Given the description of an element on the screen output the (x, y) to click on. 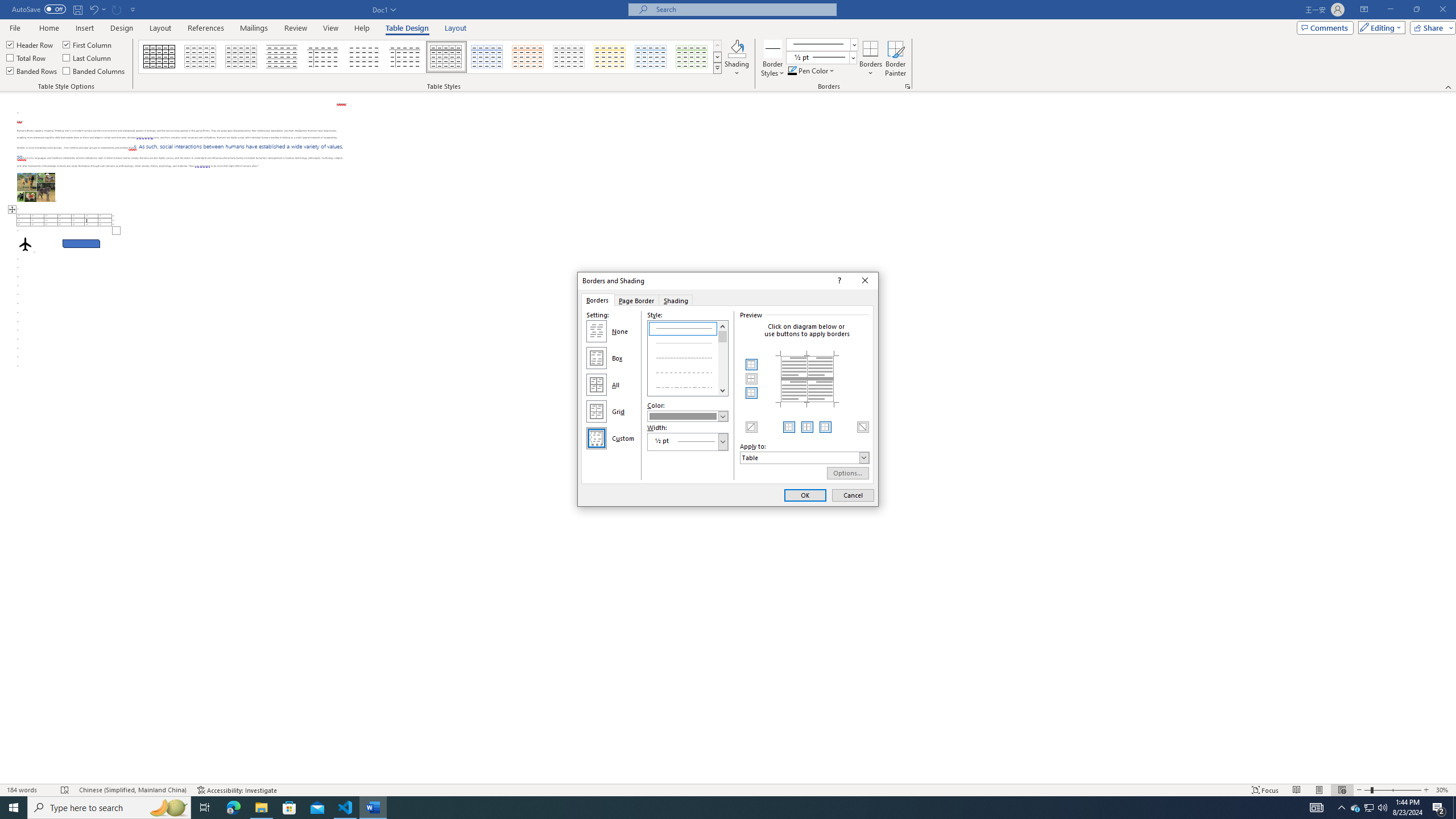
Undo Row Height Spinner (96, 9)
Minimize (1390, 9)
Language Chinese (Simplified, Mainland China) (132, 790)
AutoSave (38, 9)
Mailings (253, 28)
Diagonal Down Border (862, 426)
Box (596, 358)
Plain Table 1 (241, 56)
Borders (870, 48)
Page down (722, 363)
Grid (596, 411)
Dashed (large gap) (687, 371)
Restore Down (1416, 9)
Table Styles (717, 67)
